Given the description of an element on the screen output the (x, y) to click on. 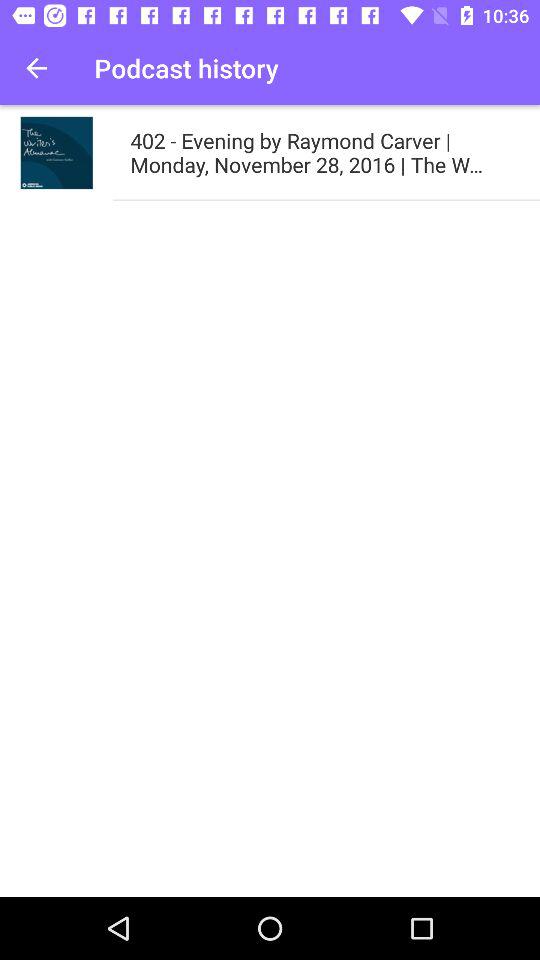
turn on item next to podcast history icon (36, 68)
